Given the description of an element on the screen output the (x, y) to click on. 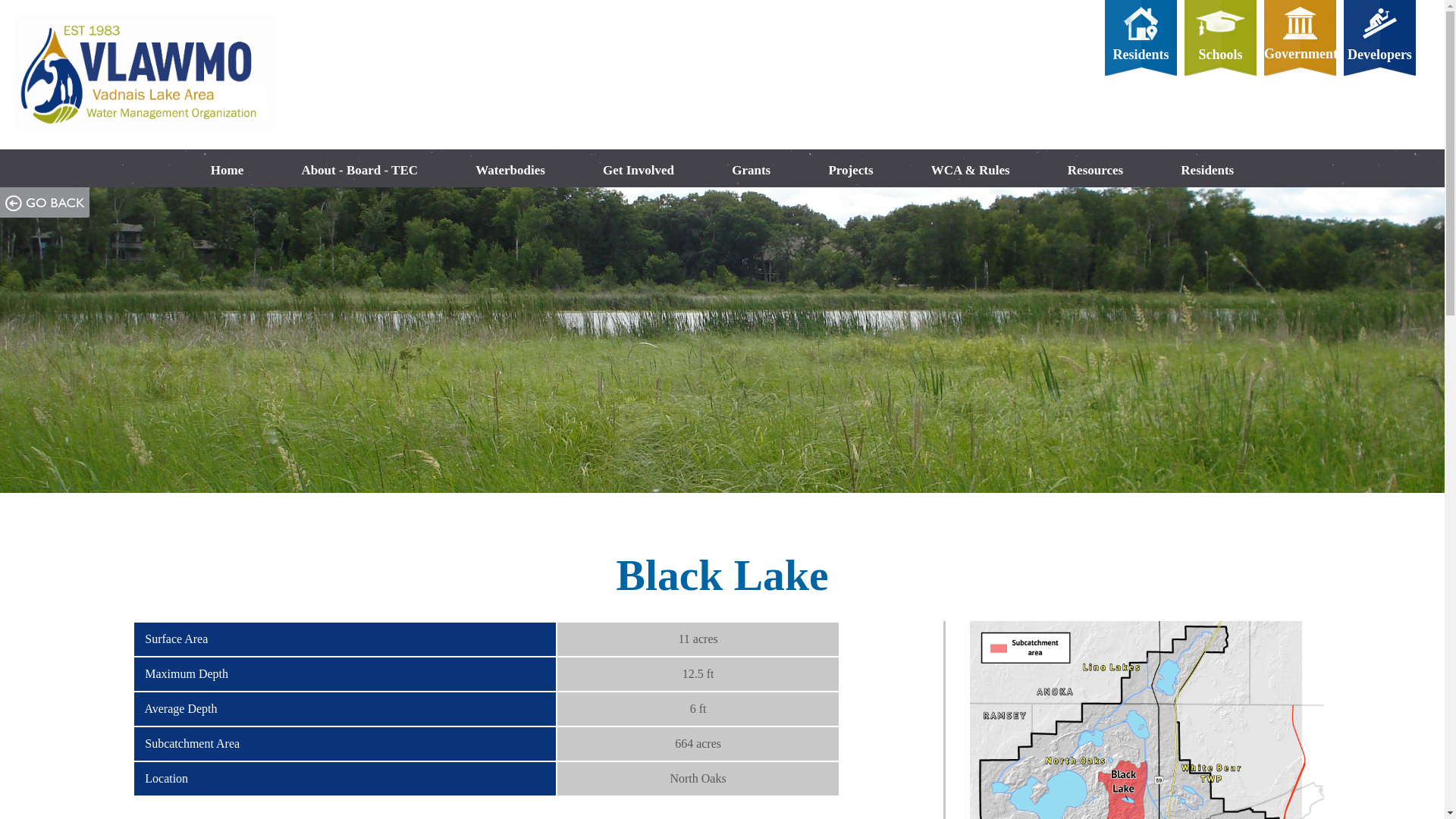
Get Involved (638, 169)
Government (1300, 53)
Grants (751, 169)
Under Construction (1219, 54)
Resources for Students (1219, 35)
Resources for Residents (1140, 54)
Home (227, 169)
Resources for Residents (1140, 35)
About - Board - TEC (359, 169)
Waterbodies (509, 169)
Developers (1380, 54)
Resources for Developers (1379, 35)
Residents (1140, 54)
Under Construction (1380, 54)
Schools (1219, 54)
